Given the description of an element on the screen output the (x, y) to click on. 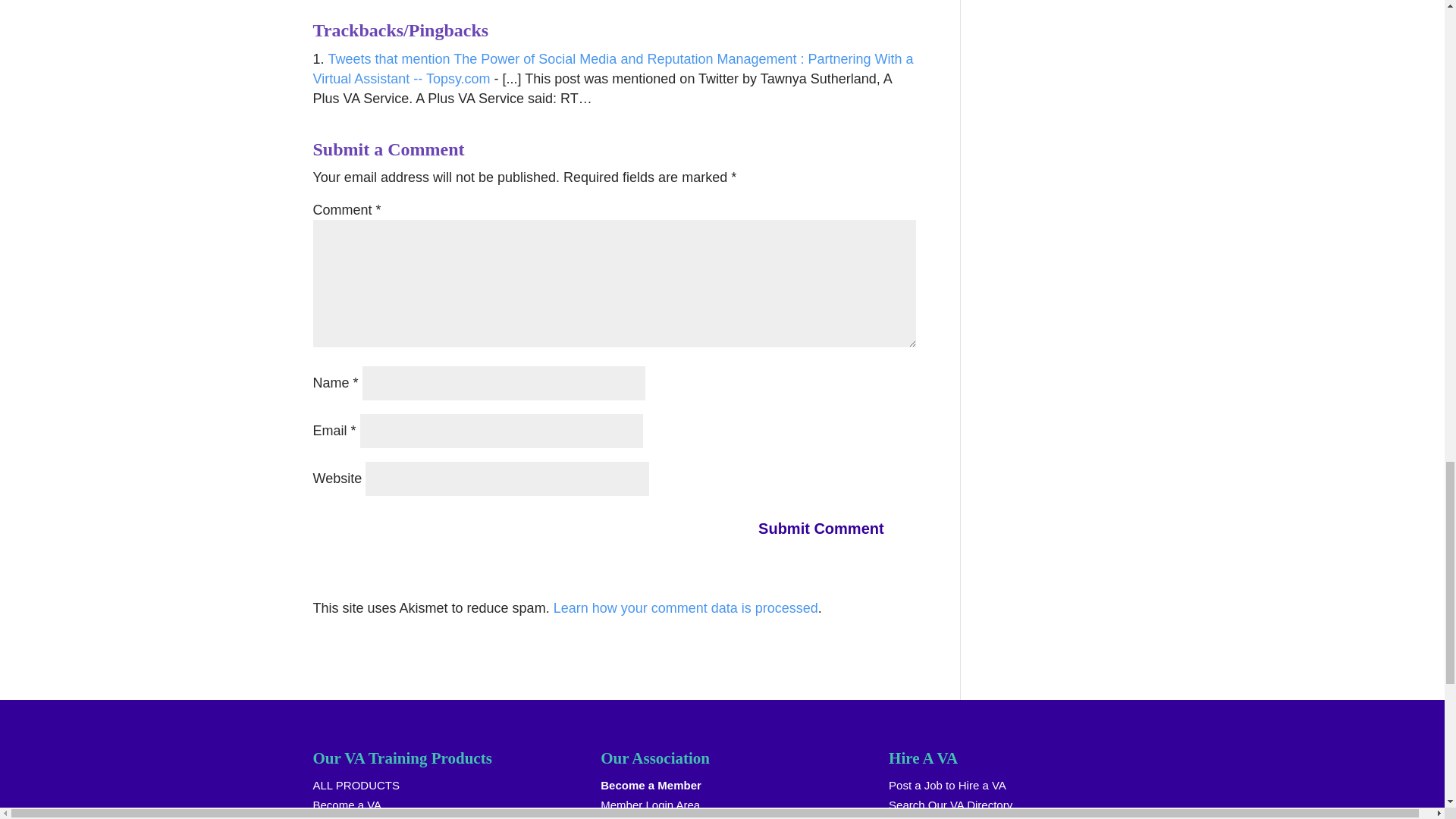
Submit Comment (830, 528)
Submit Comment (830, 528)
Learn how your comment data is processed (685, 607)
